Given the description of an element on the screen output the (x, y) to click on. 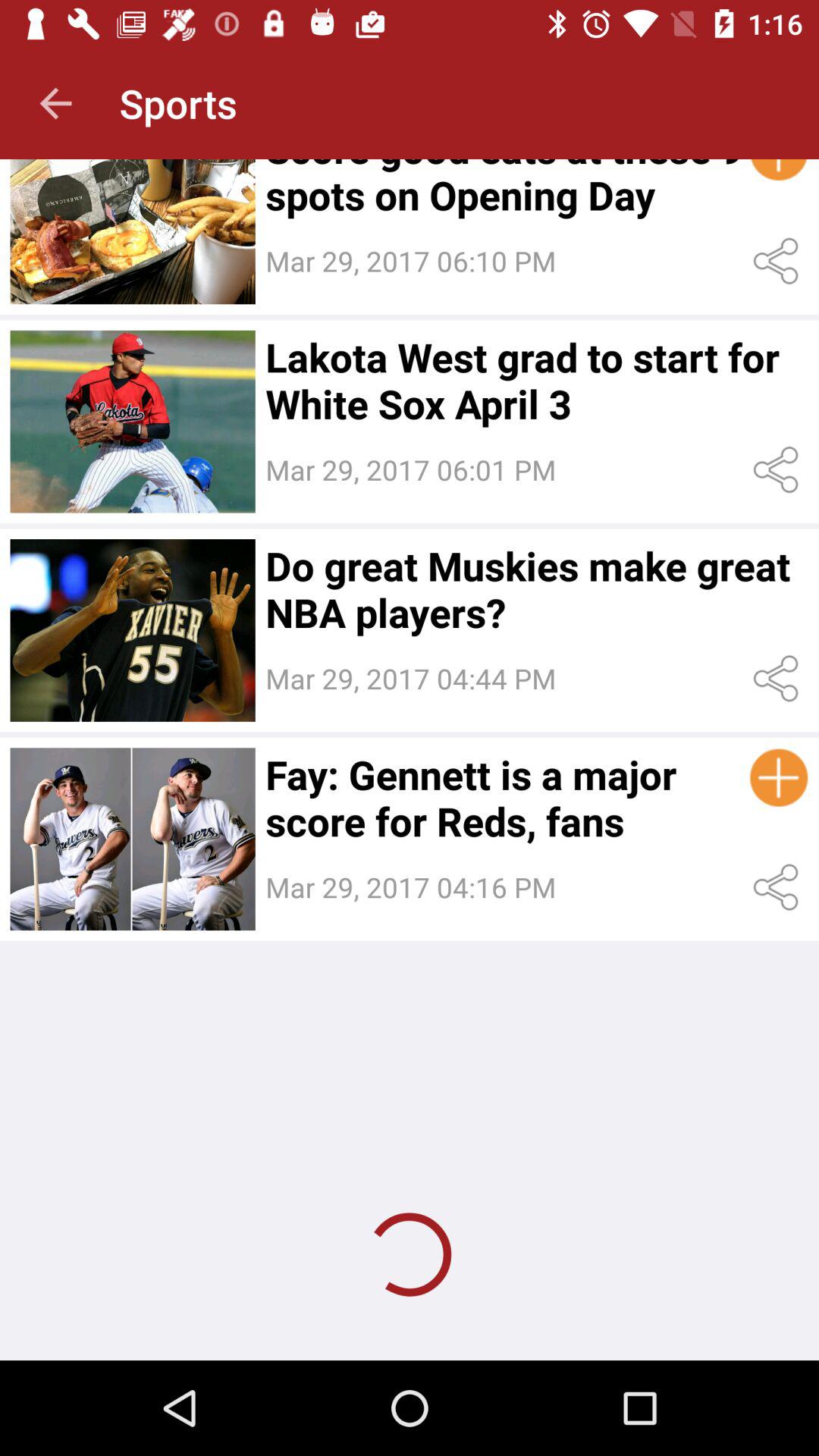
hit the share button (778, 887)
